Given the description of an element on the screen output the (x, y) to click on. 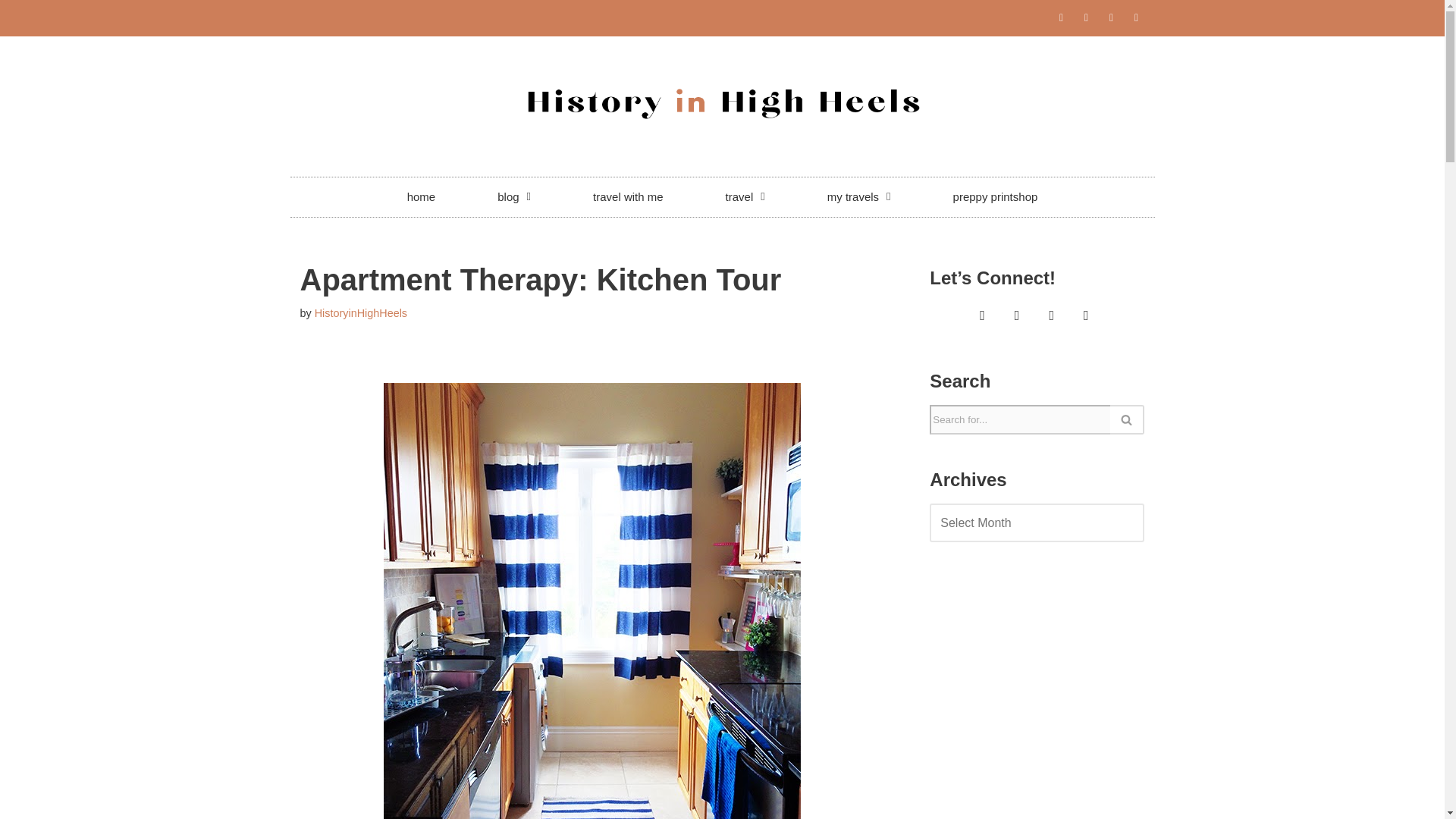
travel (745, 197)
Skip to content (11, 31)
travel with me (628, 197)
home (421, 197)
Instagram (982, 316)
Pinterest (1016, 316)
Twitter (1050, 316)
blog (513, 197)
my travels (858, 197)
Posts by HistoryinHighHeels (360, 313)
Facebook (1085, 316)
